Given the description of an element on the screen output the (x, y) to click on. 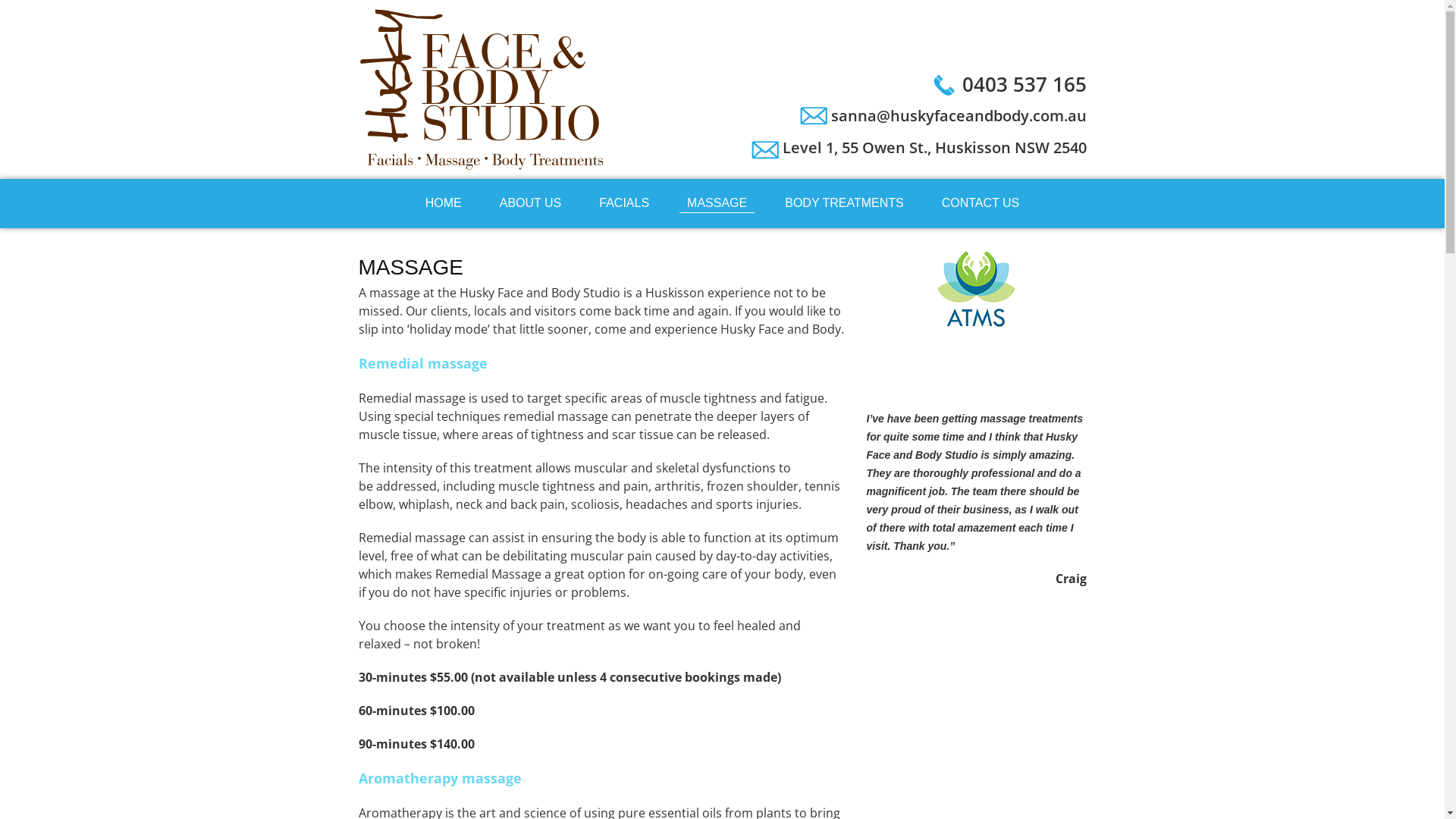
HUSKY FACE & BODY STUDIO Element type: text (482, 89)
MASSAGE Element type: text (716, 203)
ABOUT US Element type: text (530, 203)
CONTACT US Element type: text (980, 203)
FACIALS Element type: text (623, 203)
BODY TREATMENTS Element type: text (843, 203)
HOME Element type: text (443, 203)
